Given the description of an element on the screen output the (x, y) to click on. 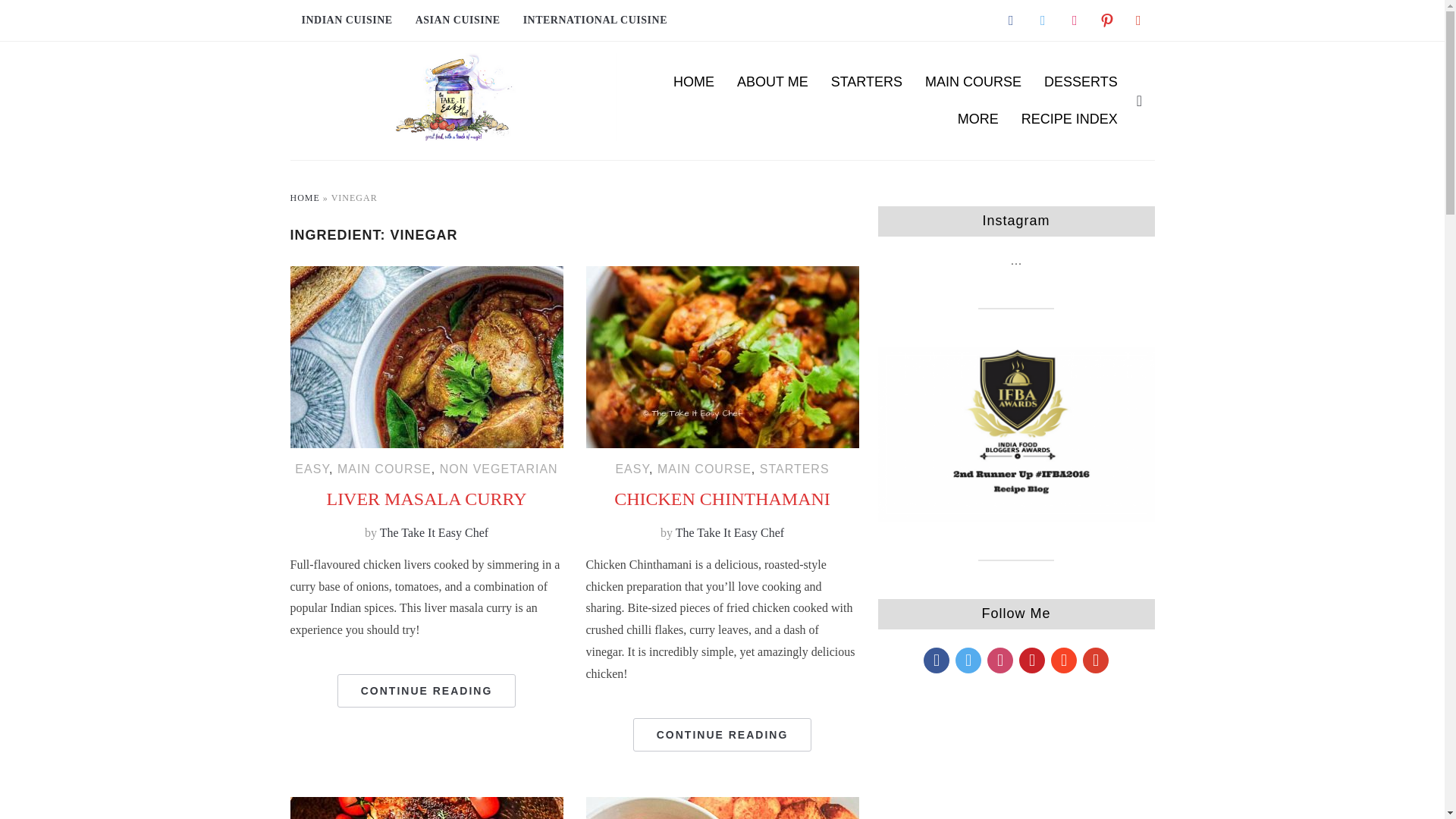
Instagram (1074, 19)
Follow Me (1042, 19)
Posts by The Take It Easy Chef (433, 532)
twitter (1042, 19)
Friend me on Facebook (1010, 19)
HOME (693, 81)
instagram (1074, 19)
google (1138, 19)
Kerala Fish Fry (425, 806)
pinterest (1106, 19)
